Given the description of an element on the screen output the (x, y) to click on. 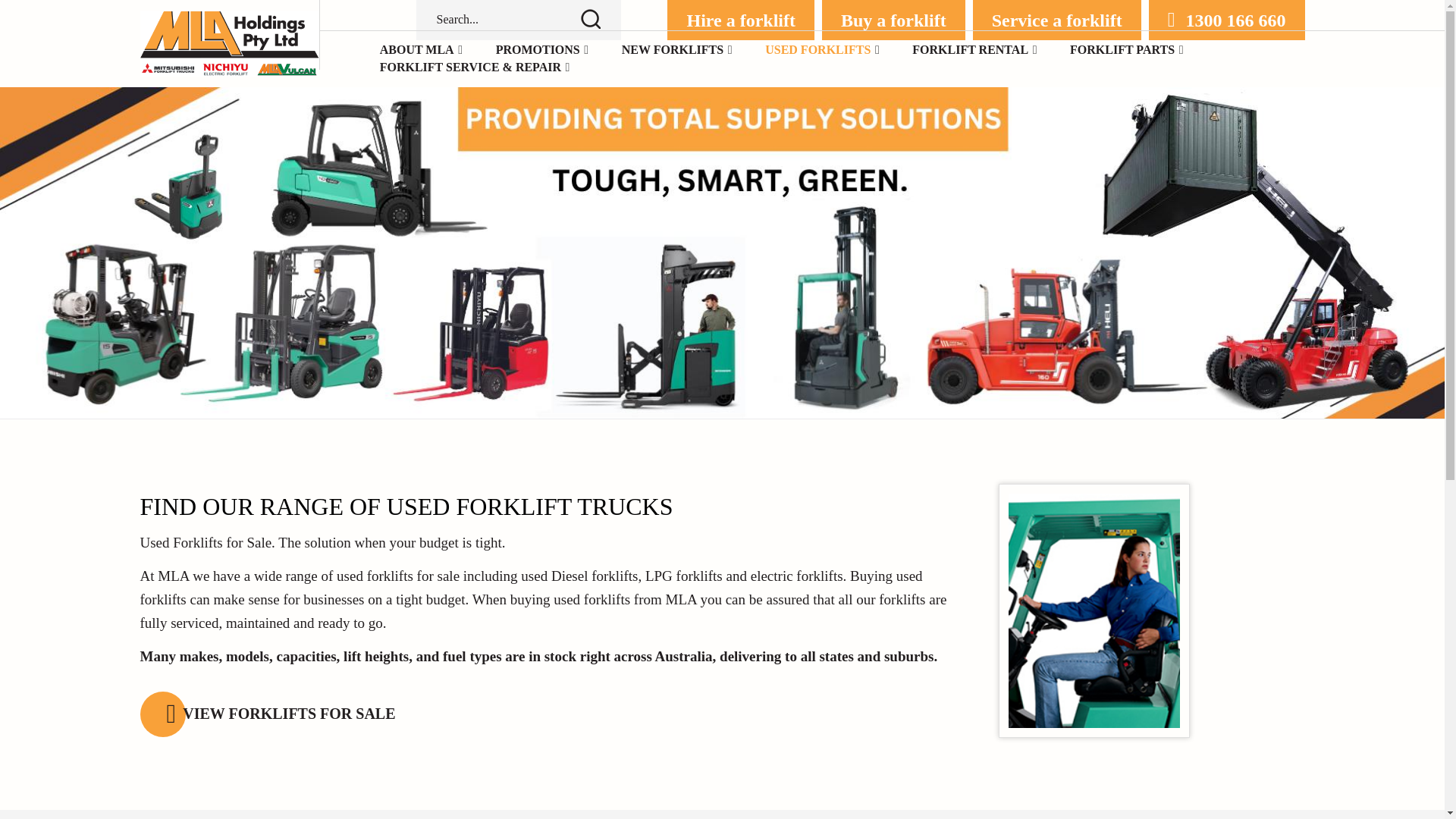
ABOUT MLA (417, 49)
Hire a forklift (739, 20)
1300 166 660 (1226, 20)
Service a forklift (1056, 20)
Buy a forklift (893, 20)
NEW FORKLIFTS (672, 49)
PROMOTIONS (537, 49)
